Given the description of an element on the screen output the (x, y) to click on. 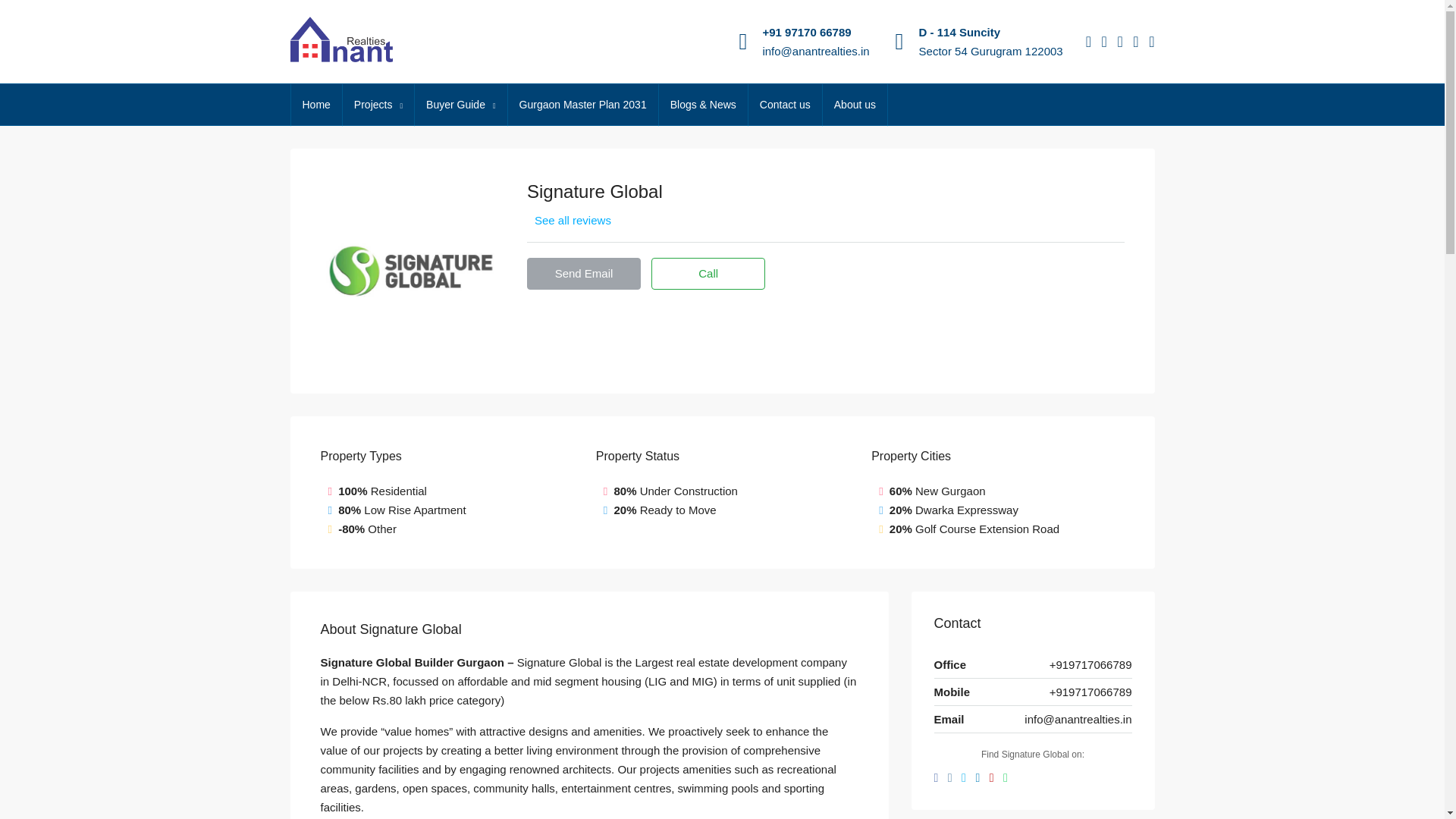
Home (316, 104)
Buyer Guide (460, 105)
Projects (377, 105)
